Given the description of an element on the screen output the (x, y) to click on. 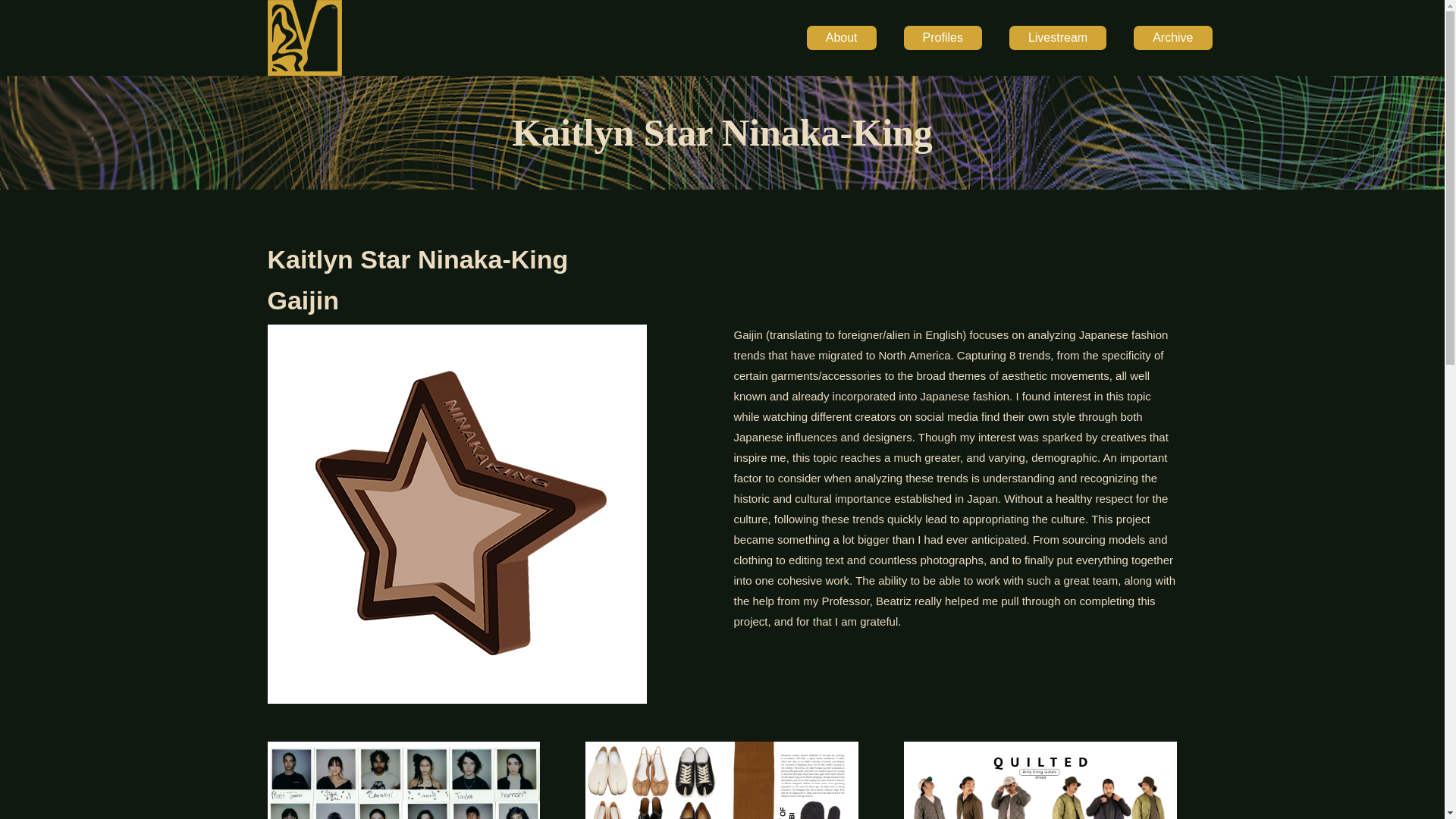
Livestream (1057, 37)
About (841, 37)
Profiles (943, 37)
Kaitlyn-Ninaka-King-asset2 - Kaitlyn Ninaka-King (722, 780)
Archive (1172, 37)
Kaitlyn-Ninaka-King-asset3 - Kaitlyn Ninaka-King (1040, 780)
Kaitlyn-Ninaka-King-asset1 - Kaitlyn Ninaka-King (403, 780)
